Given the description of an element on the screen output the (x, y) to click on. 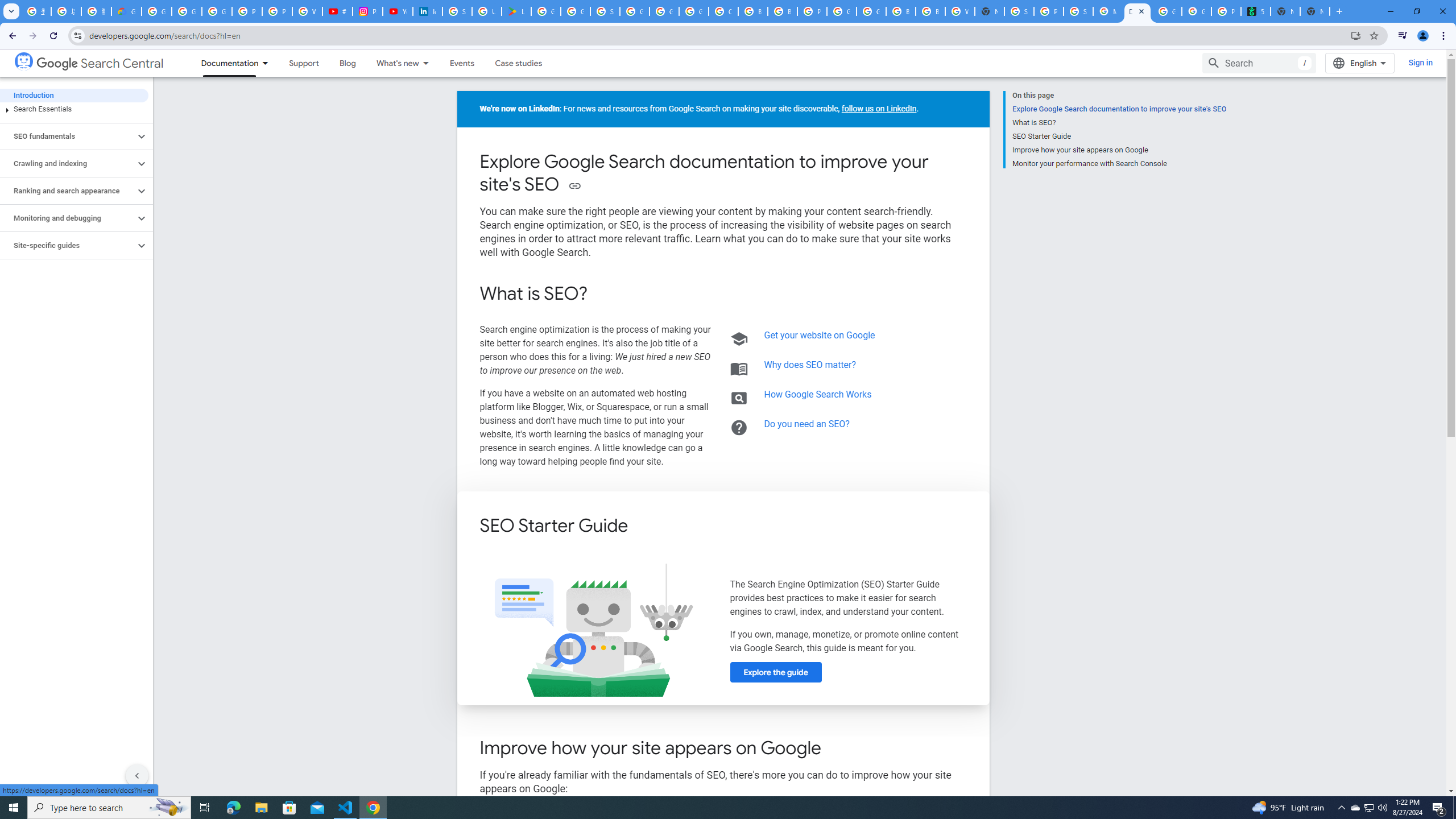
Explore the guide (775, 671)
Documentation, selected (224, 62)
Privacy Help Center - Policies Help (277, 11)
Get your website on Google (819, 335)
Sign in - Google Accounts (1018, 11)
How Google Search Works (818, 394)
